Given the description of an element on the screen output the (x, y) to click on. 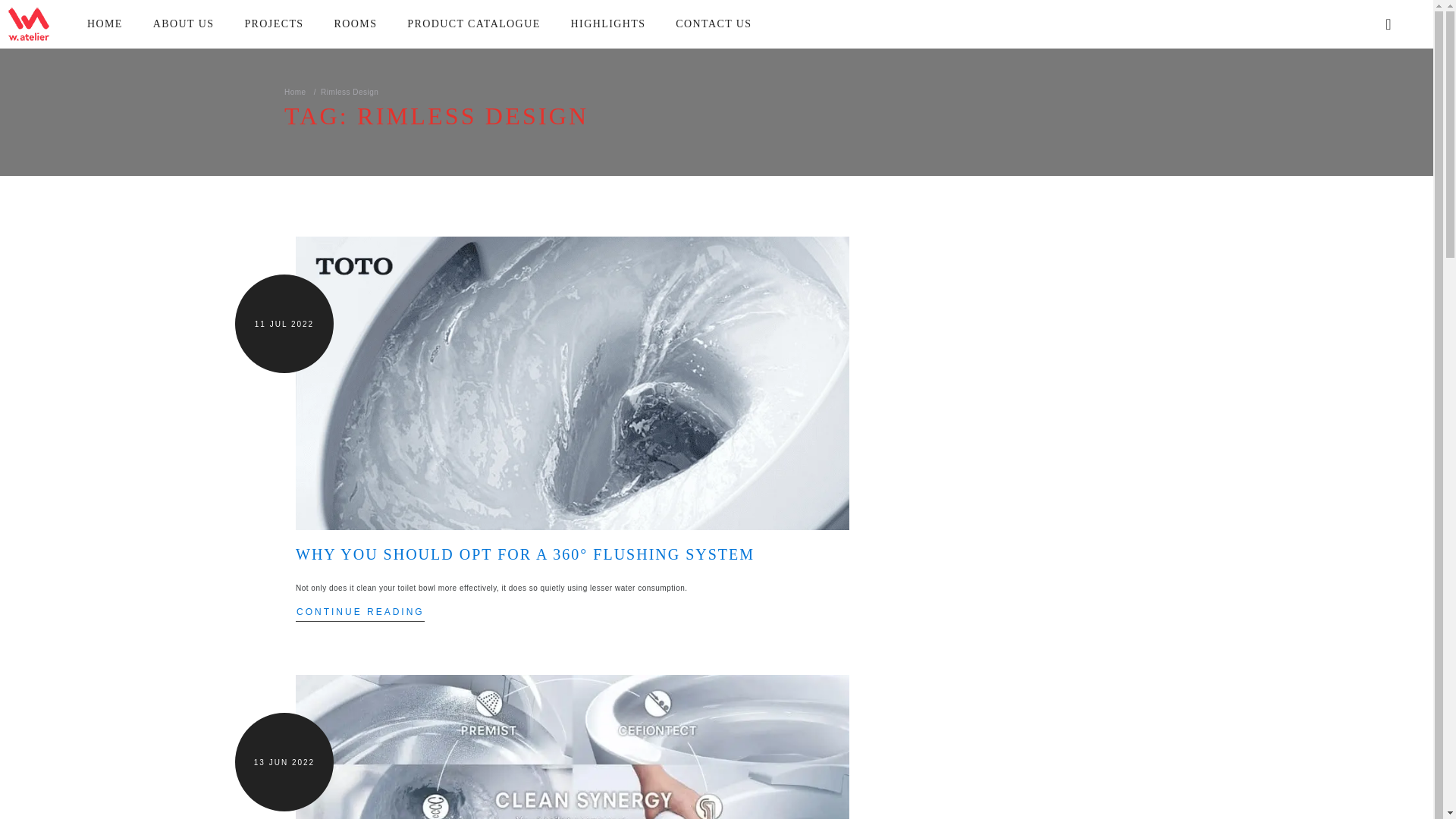
ABOUT US (183, 23)
ROOMS (355, 23)
HIGHLIGHTS (608, 23)
PRODUCT CATALOGUE (473, 23)
PROJECTS (273, 23)
CONTINUE READING (360, 611)
Home (299, 91)
CONTACT US (713, 23)
HOME (104, 23)
